Given the description of an element on the screen output the (x, y) to click on. 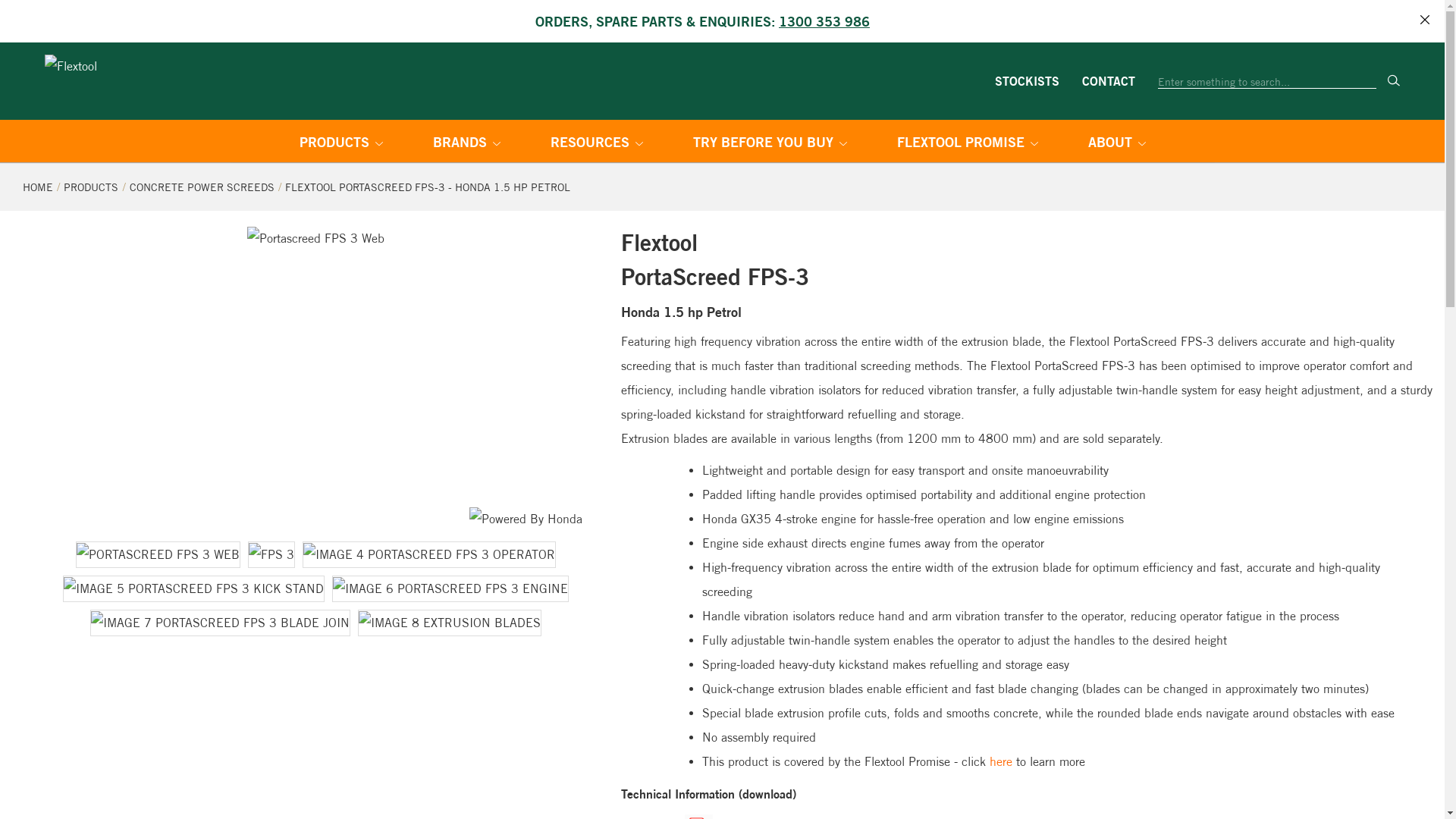
STOCKISTS Element type: text (1026, 79)
ABOUT Element type: text (1116, 143)
TRY BEFORE YOU BUY Element type: text (770, 143)
CONTACT Element type: text (1108, 79)
PRODUCTS Element type: text (90, 187)
RESOURCES Element type: text (596, 143)
CONCRETE POWER SCREEDS Element type: text (201, 187)
BRANDS Element type: text (465, 143)
here Element type: text (1000, 761)
PRODUCTS Element type: text (340, 143)
HOME Element type: text (37, 187)
1300 353 986 Element type: text (823, 20)
Flextool Element type: hover (144, 80)
FLEXTOOL PROMISE Element type: text (966, 143)
